Given the description of an element on the screen output the (x, y) to click on. 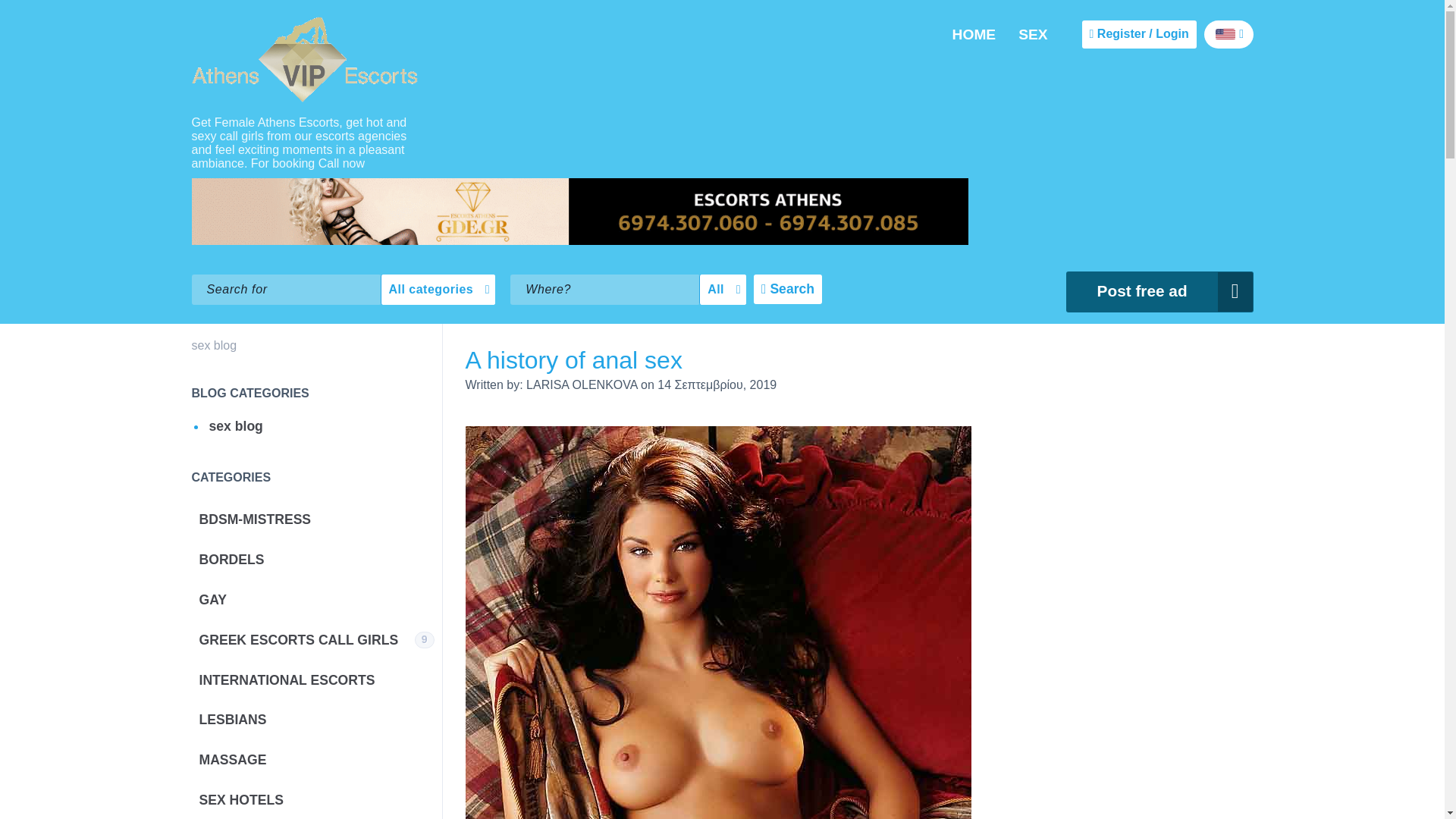
INTERNATIONAL ESCORTS (315, 680)
GAY (315, 599)
HOME (974, 34)
A history of anal sex (573, 359)
BDSM-MISTRESS (315, 519)
SEX (1032, 34)
LESBIANS (315, 720)
Post free ad (1159, 291)
BORDELS (315, 559)
GREEK ESCORTS CALL GIRLS (315, 639)
Search (788, 288)
SEX HOTELS (315, 799)
MASSAGE (315, 760)
A history of anal sex (573, 359)
